Given the description of an element on the screen output the (x, y) to click on. 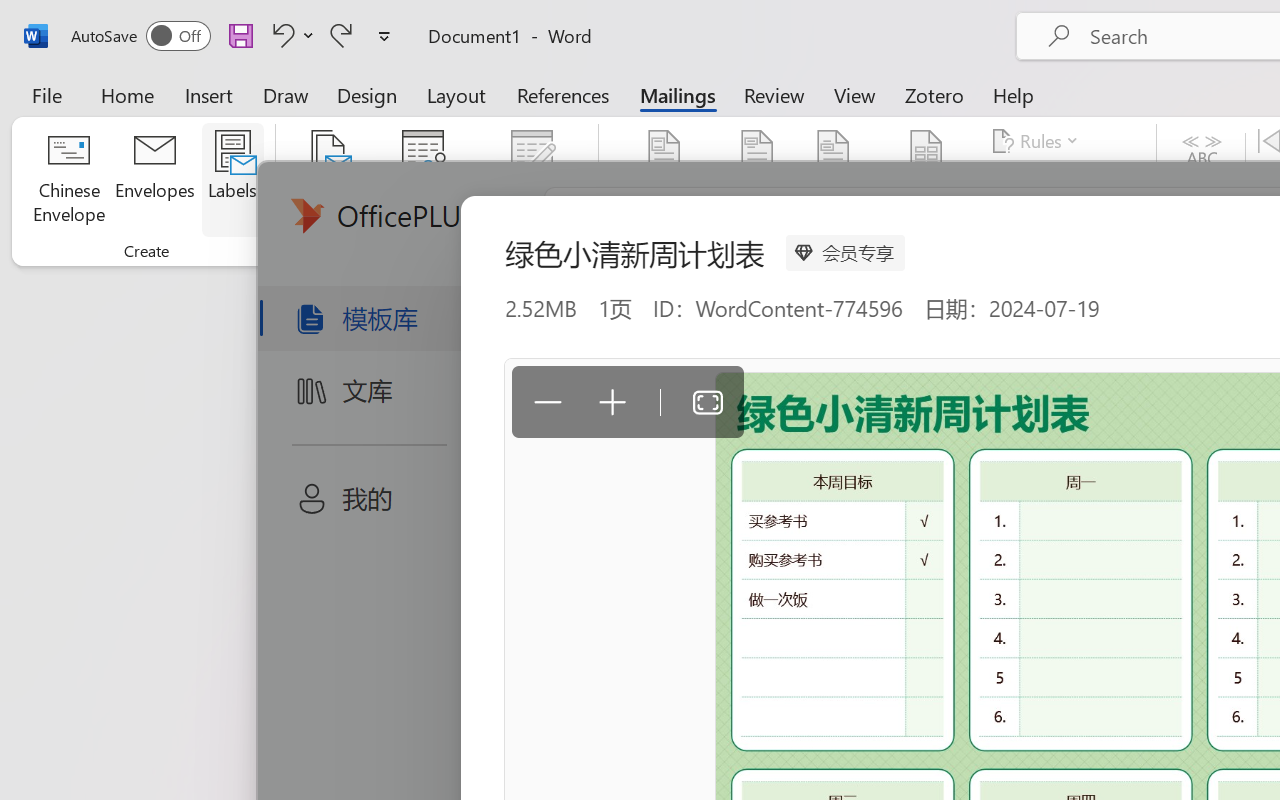
Highlight Merge Fields (664, 179)
Select Recipients (423, 179)
Undo Apply Quick Style Set (290, 35)
Edit Recipient List... (532, 179)
Start Mail Merge (328, 179)
Update Labels (1064, 218)
Envelopes... (155, 179)
